Given the description of an element on the screen output the (x, y) to click on. 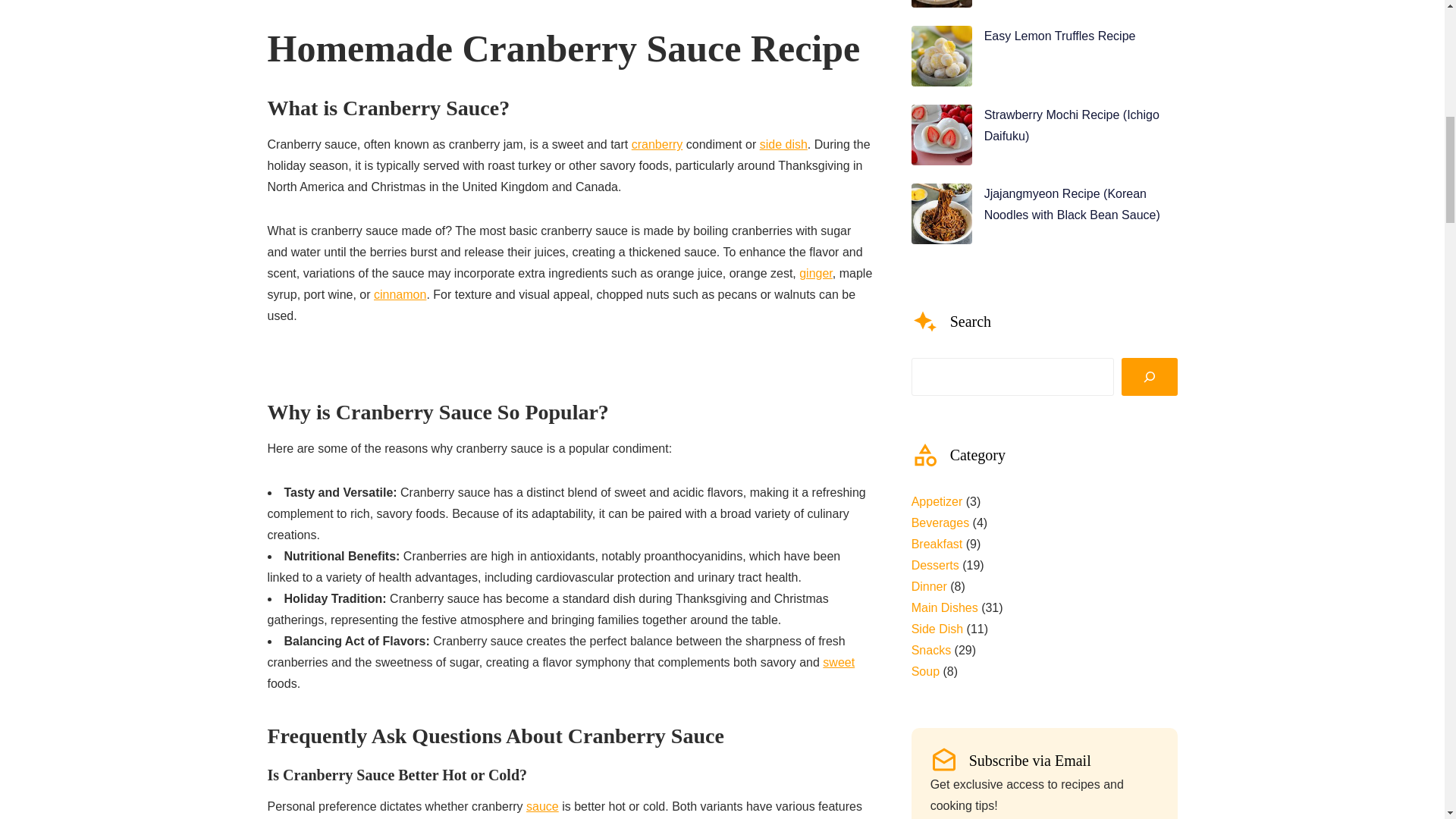
cranberry (656, 144)
sauce (542, 806)
cinnamon (400, 294)
sweet (838, 662)
ginger (815, 273)
side dish (784, 144)
